Given the description of an element on the screen output the (x, y) to click on. 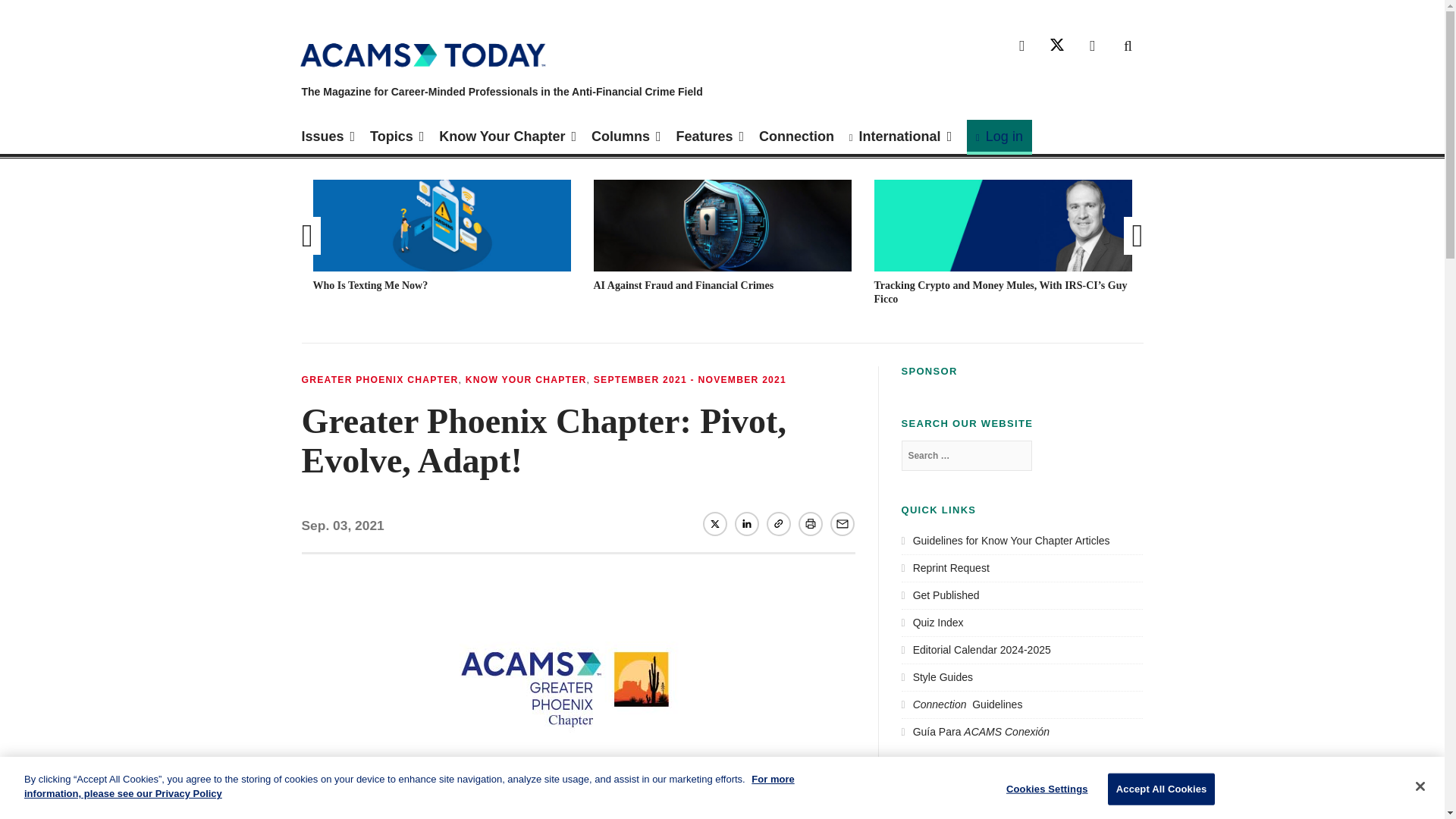
Twitter (714, 523)
LinkedIn (746, 523)
Facebook (1021, 45)
Twitter (1056, 45)
Log in (999, 136)
copy (778, 523)
LinkedIn (1092, 45)
